Given the description of an element on the screen output the (x, y) to click on. 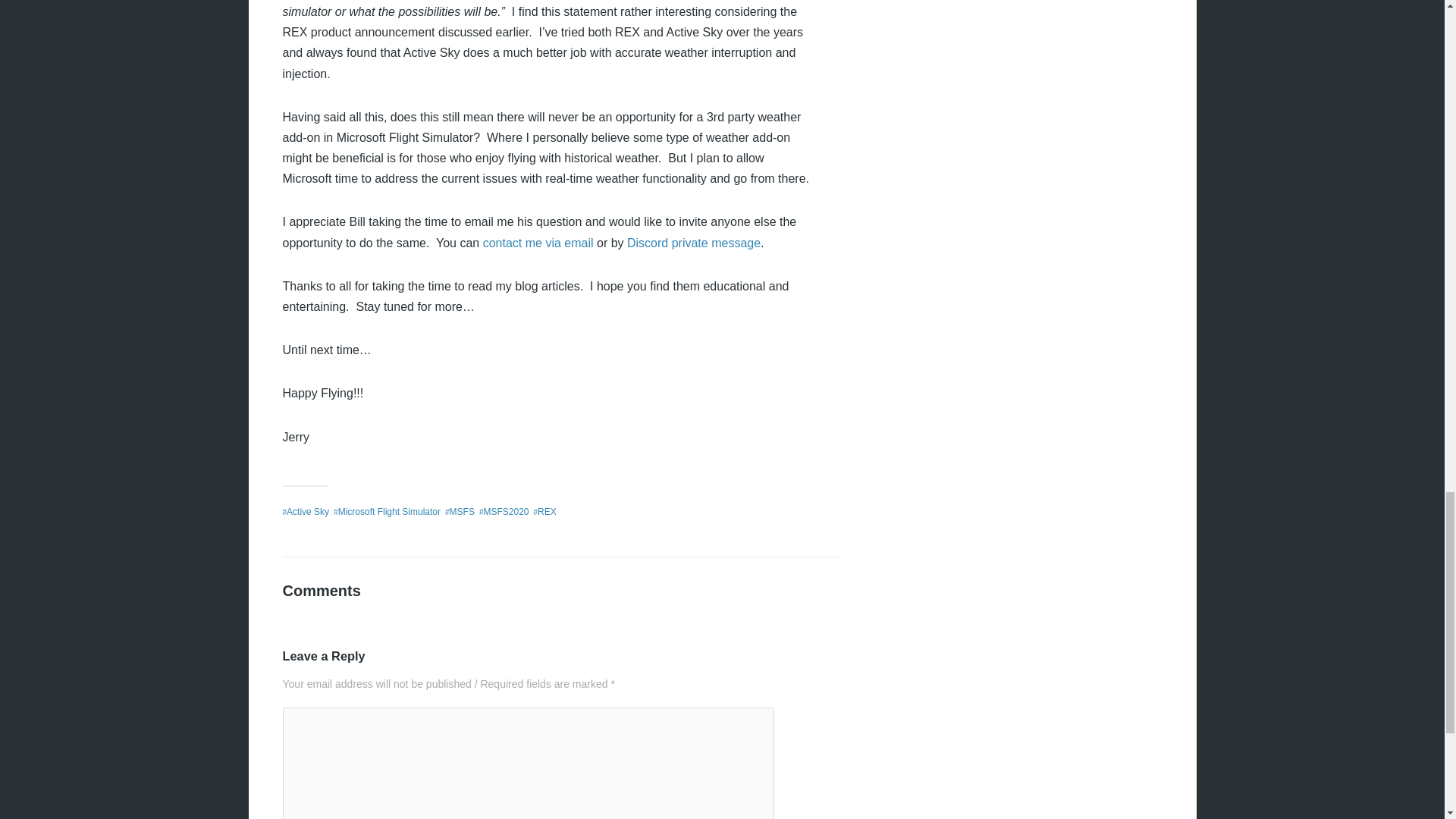
contact me via email (538, 242)
MSFS (461, 511)
MSFS2020 (505, 511)
Active Sky (307, 511)
Microsoft Flight Simulator (389, 511)
Discord private message (693, 242)
